Given the description of an element on the screen output the (x, y) to click on. 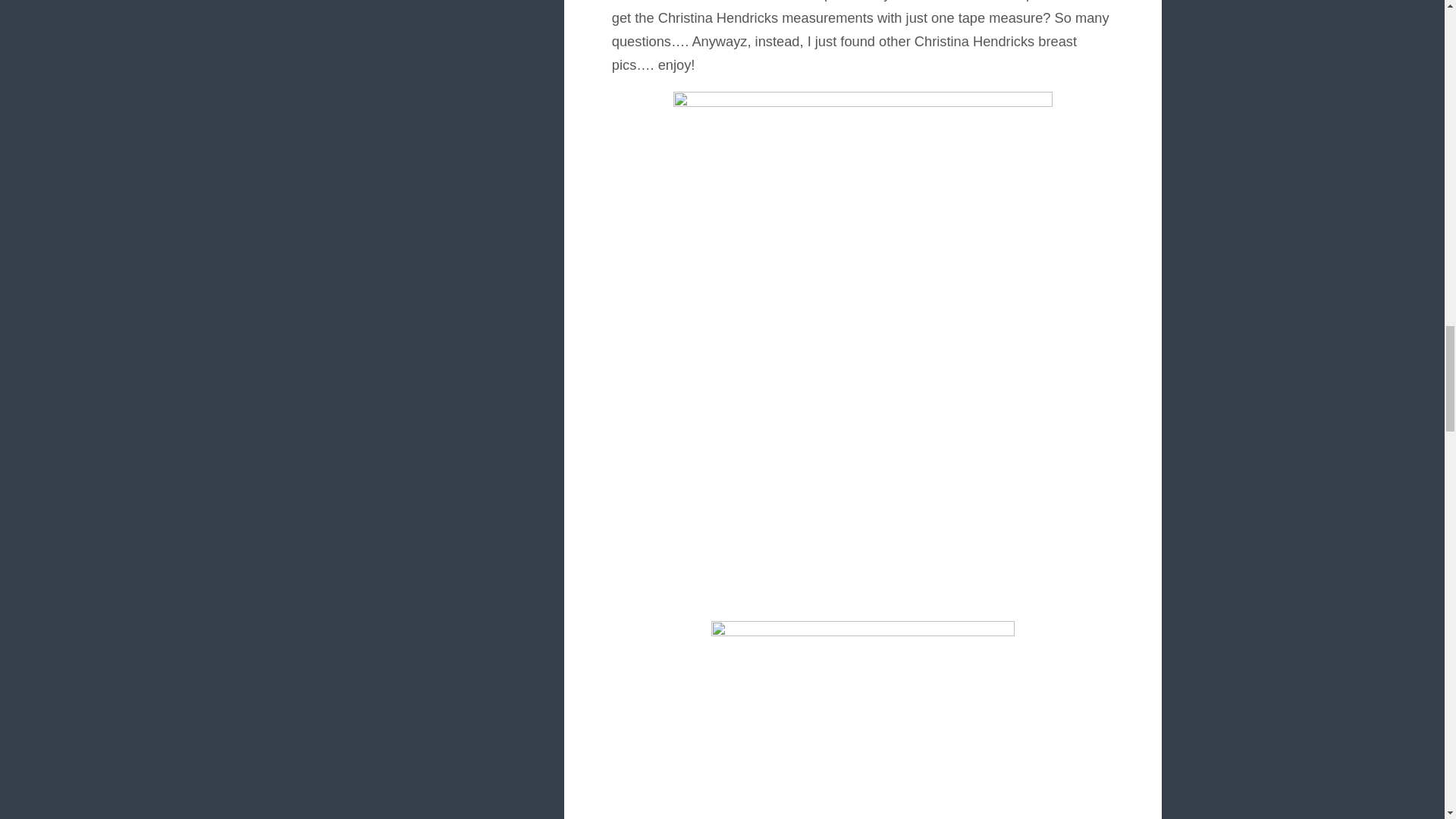
christina-hendricks-picture-bbt (862, 719)
